Given the description of an element on the screen output the (x, y) to click on. 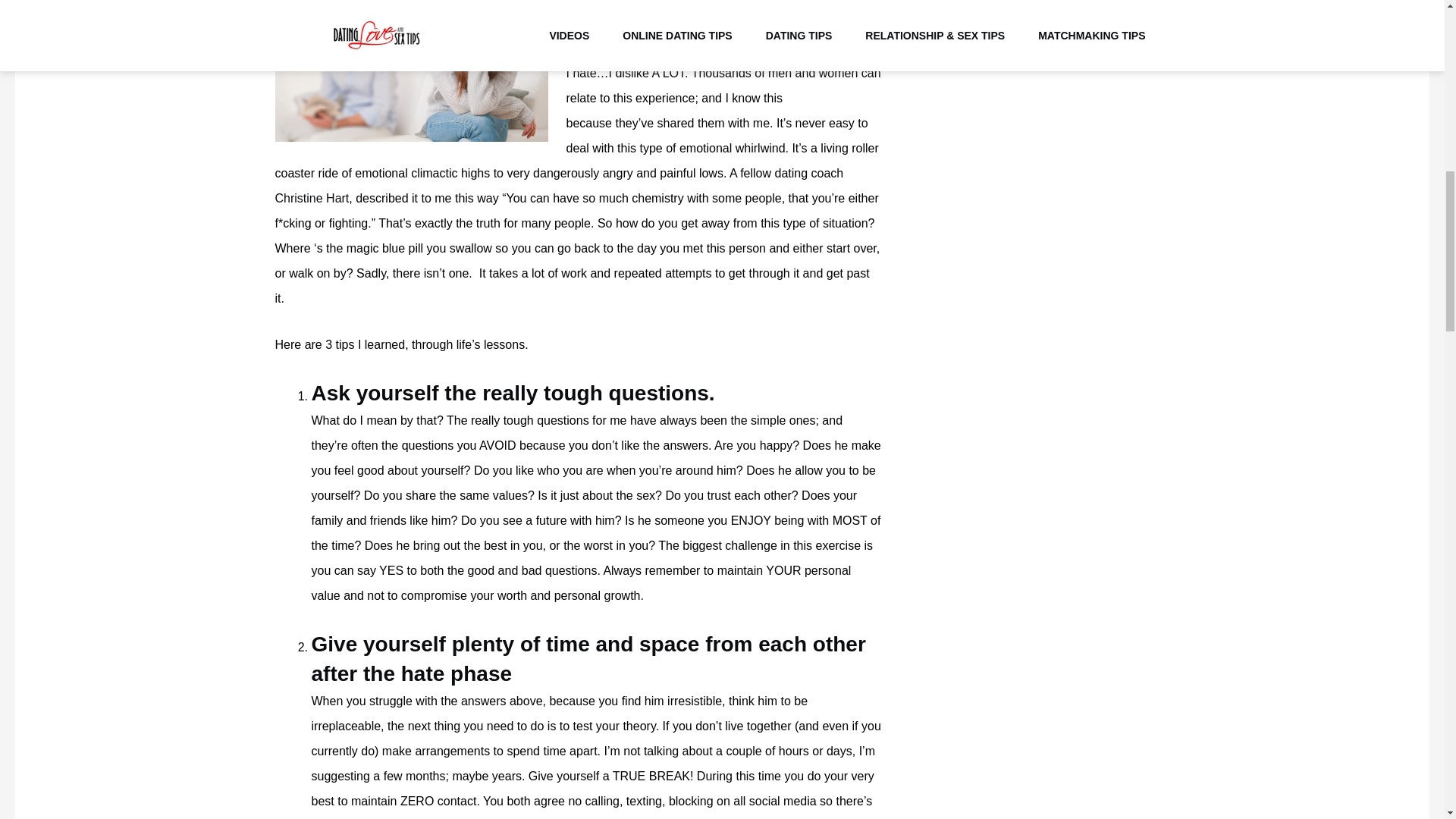
addictive-relationships (411, 70)
date-coach (312, 197)
addiction (676, 2)
